Given the description of an element on the screen output the (x, y) to click on. 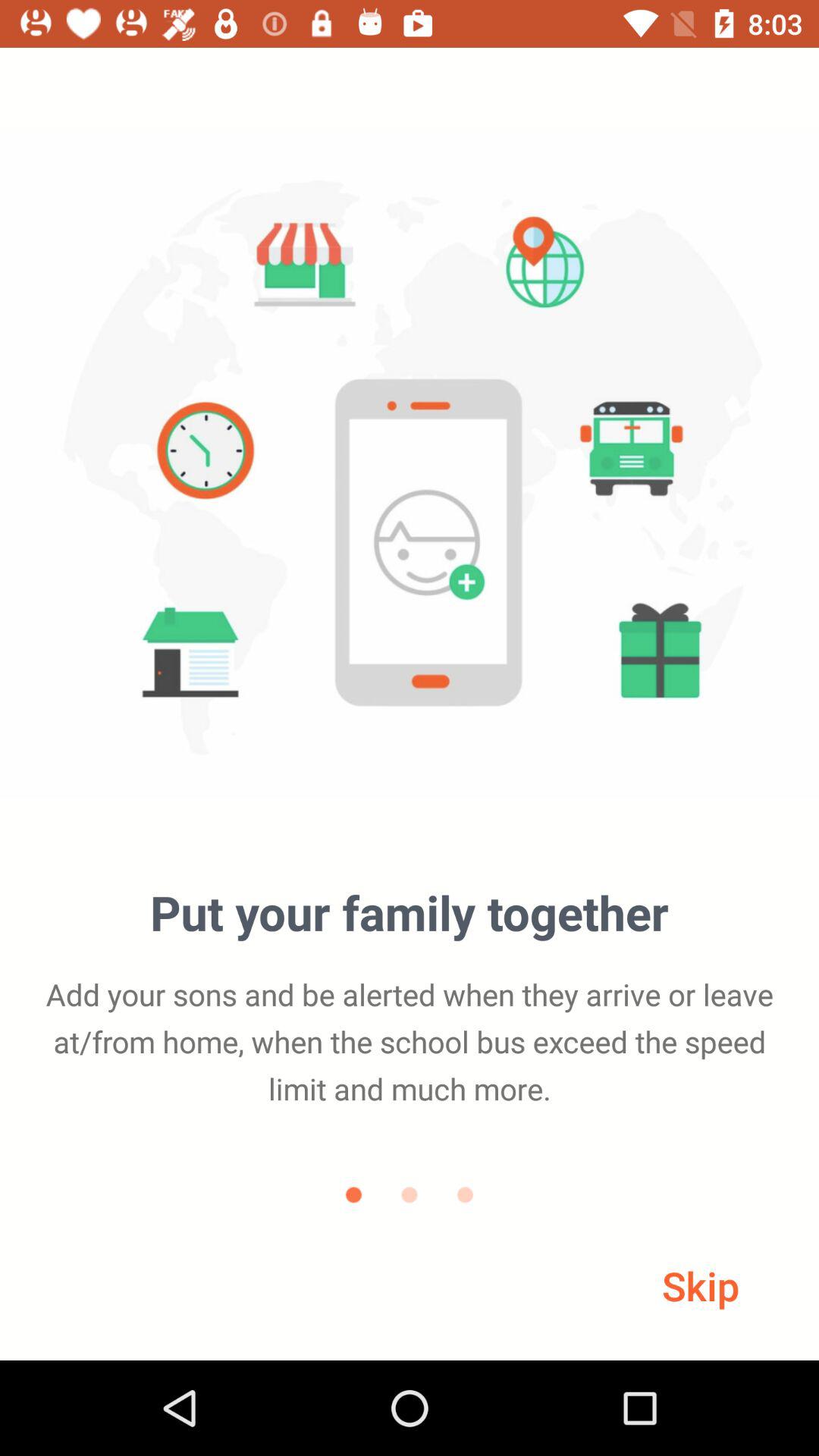
turn on item below the add your sons (700, 1285)
